Given the description of an element on the screen output the (x, y) to click on. 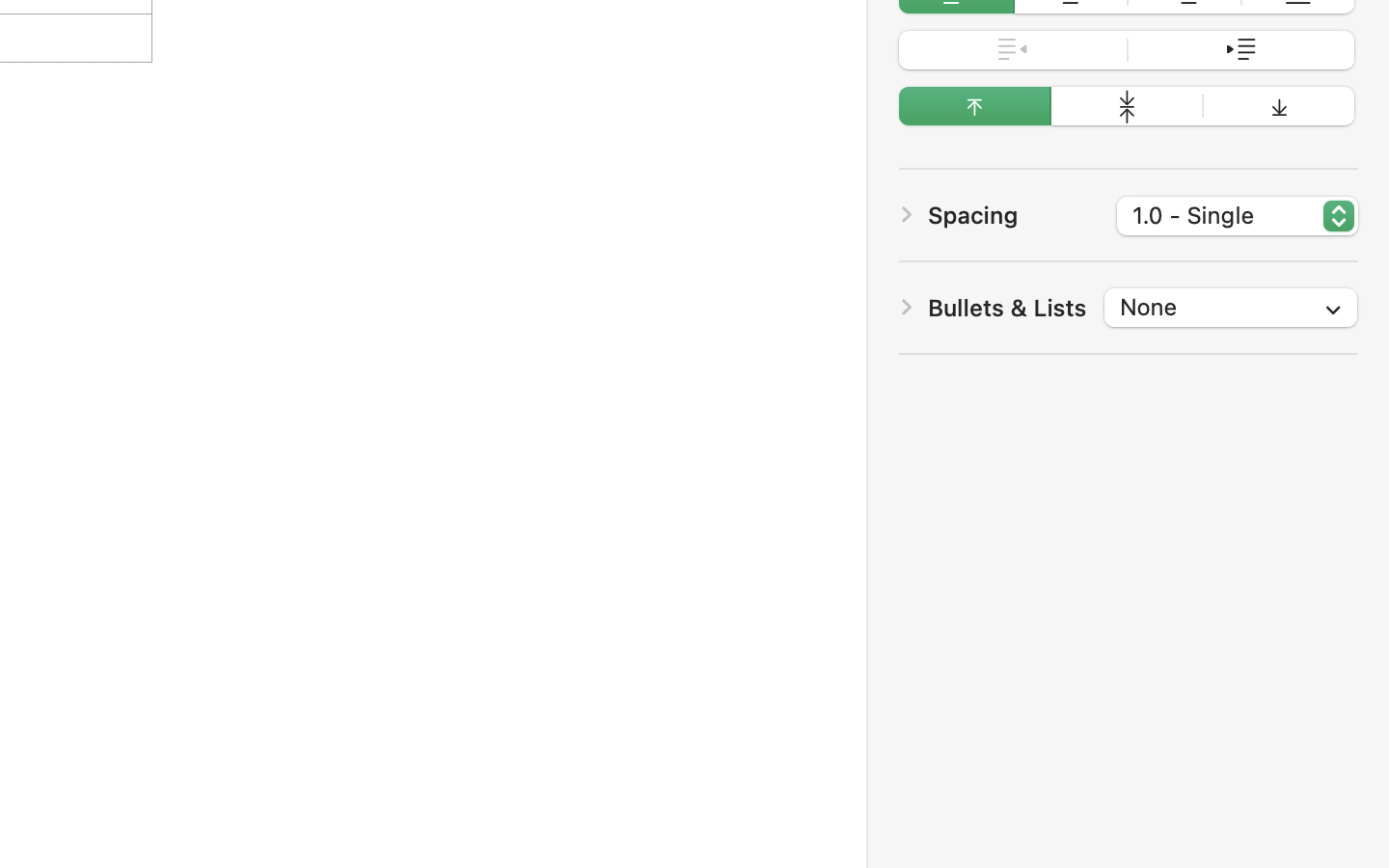
Bullets & Lists Element type: AXStaticText (1006, 307)
